Given the description of an element on the screen output the (x, y) to click on. 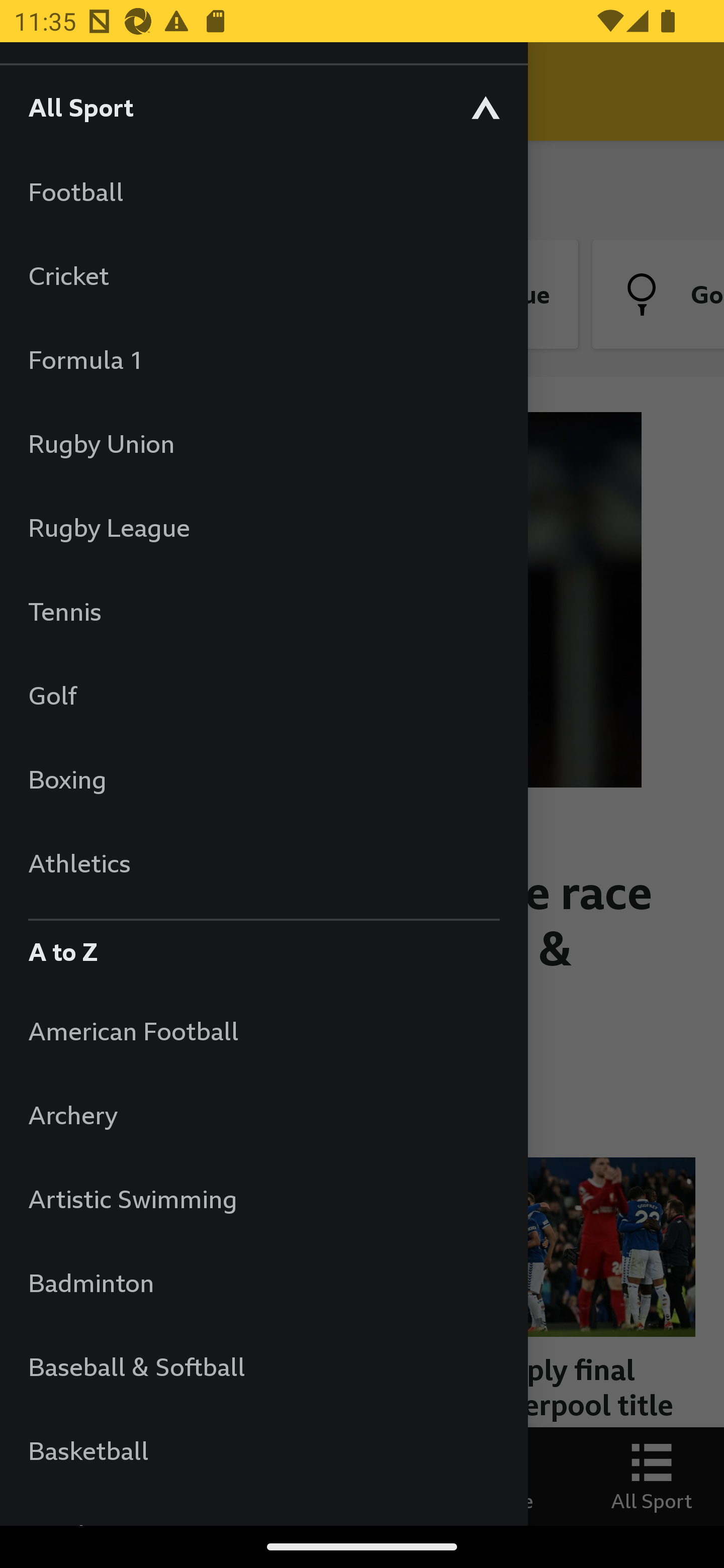
All Sport (263, 106)
Football (263, 190)
Cricket (263, 275)
Formula 1 (263, 358)
Rugby Union (263, 443)
Rugby League (263, 526)
Tennis (263, 611)
Golf (263, 694)
Boxing (263, 778)
Athletics (263, 862)
A to Z (263, 946)
American Football (263, 1029)
Archery (263, 1114)
Artistic Swimming (263, 1198)
Badminton (263, 1282)
Baseball & Softball (263, 1366)
Basketball (263, 1450)
